Given the description of an element on the screen output the (x, y) to click on. 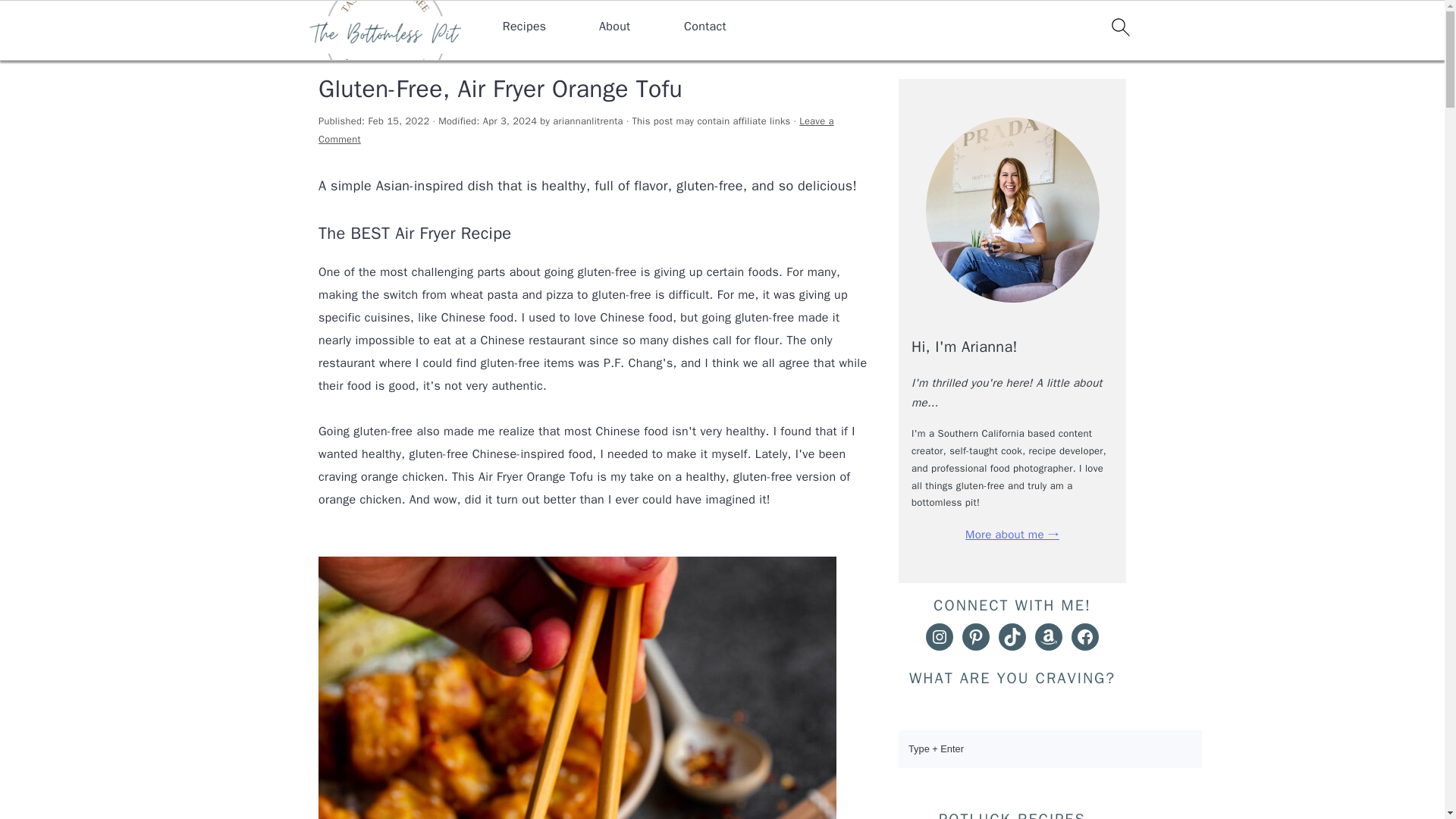
Recipes (524, 26)
Home (334, 50)
TikTok (1012, 636)
Instagram (939, 636)
search icon (1119, 26)
search icon (1119, 31)
Amazon (1048, 636)
Pinterest (976, 636)
About (614, 26)
Leave a Comment (576, 130)
Contact (705, 26)
Facebook (1085, 636)
Recipes (384, 50)
